Given the description of an element on the screen output the (x, y) to click on. 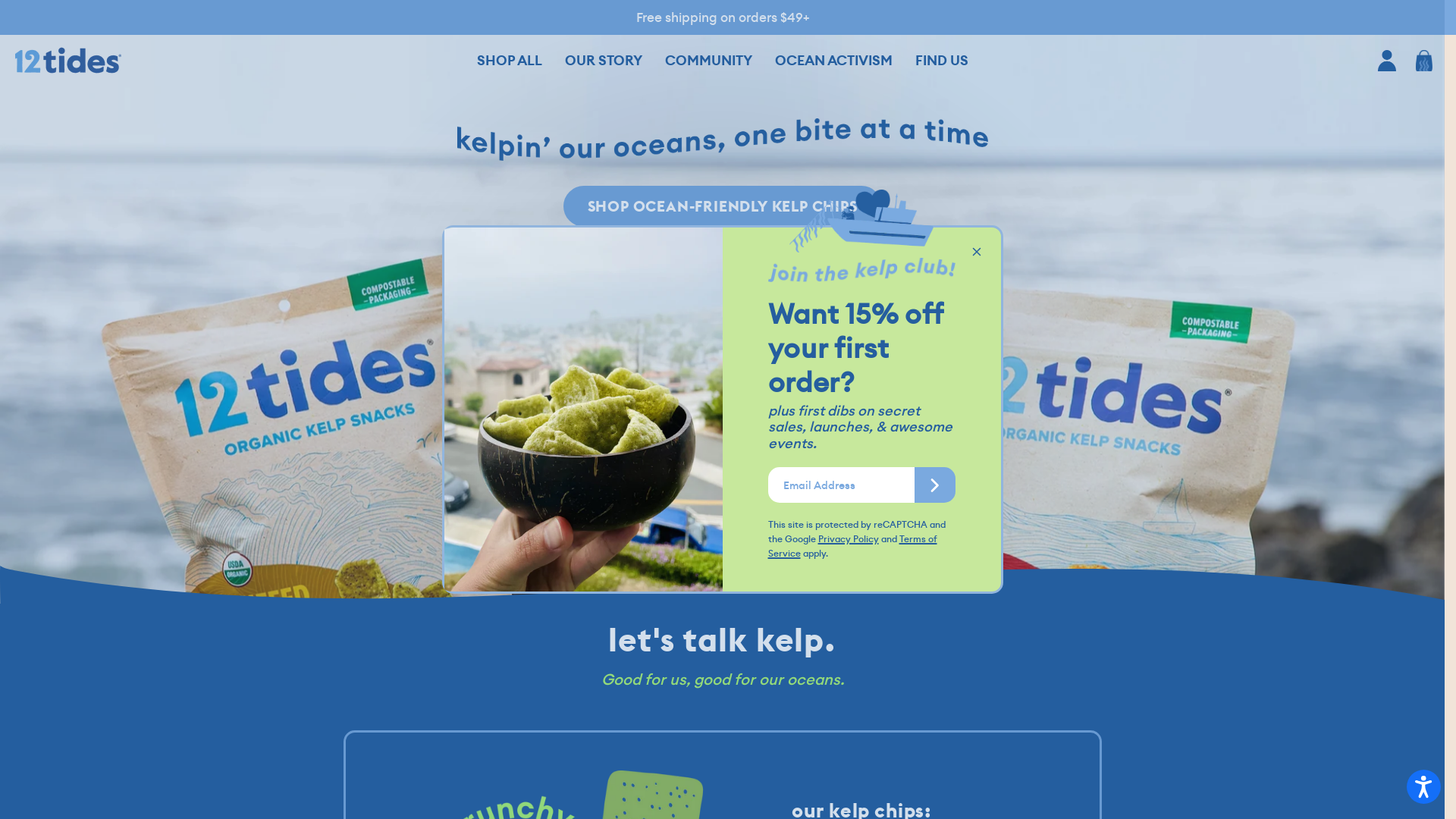
FIND US Element type: text (941, 59)
Close Element type: text (976, 251)
MY ACCOUNT Element type: text (1386, 60)
COMMUNITY Element type: text (708, 59)
Privacy Policy Element type: text (847, 539)
SHOP ALL Element type: text (509, 59)
Subscribe to Our Newsletter Element type: text (934, 484)
SHOP OCEAN-FRIENDLY KELP CHIPS Element type: text (721, 205)
OCEAN ACTIVISM Element type: text (832, 59)
OPEN CART Element type: text (1423, 60)
Terms of Service Element type: text (851, 546)
OUR STORY Element type: text (603, 59)
